Given the description of an element on the screen output the (x, y) to click on. 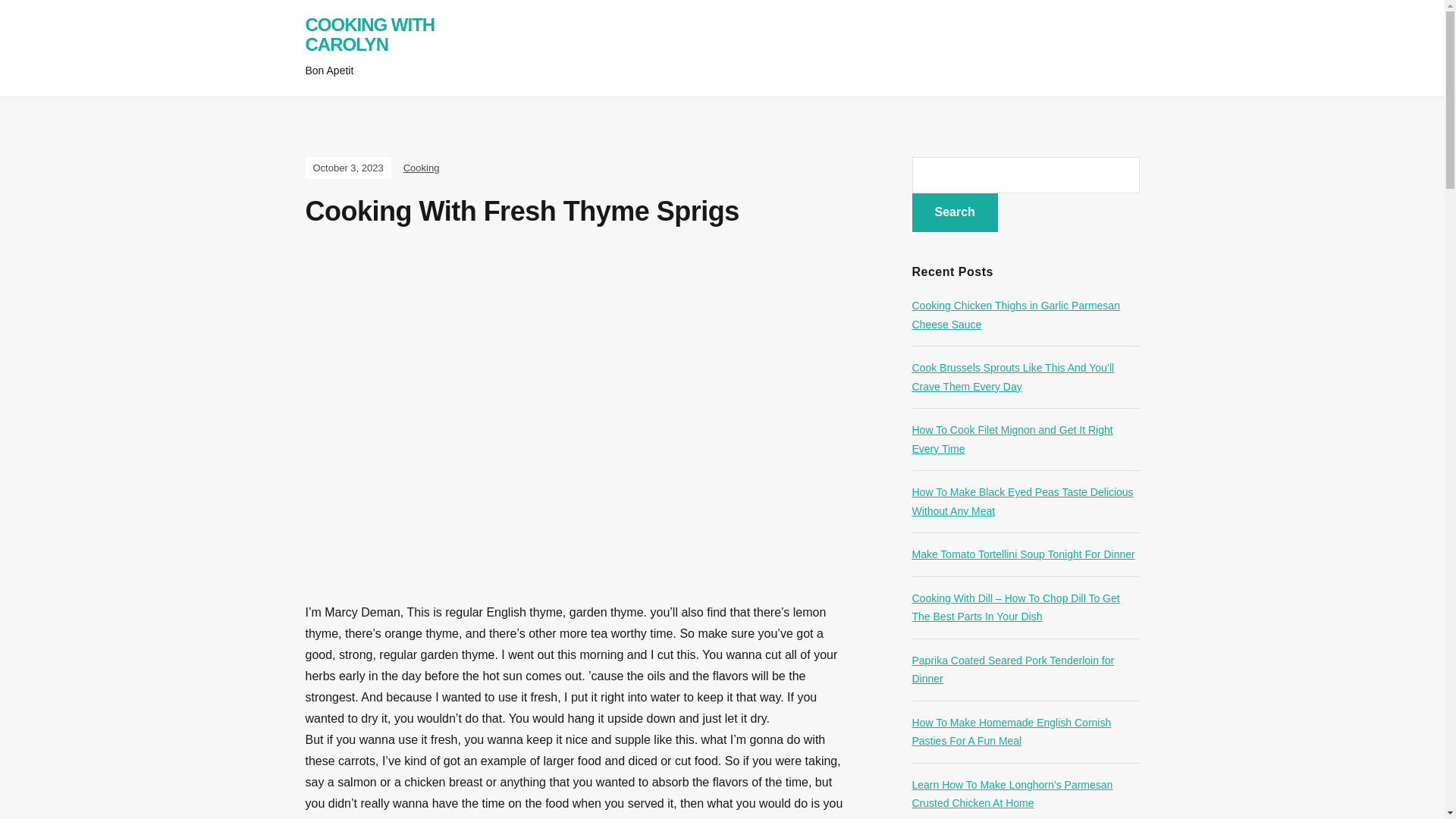
How To Cook Filet Mignon and Get It Right Every Time (1011, 439)
How To Make Homemade English Cornish Pasties For A Fun Meal (1010, 731)
How To Make Black Eyed Peas Taste Delicious Without Any Meat (1021, 501)
Search (954, 212)
Cooking (421, 167)
COOKING WITH CAROLYN (368, 34)
Cooking Chicken Thighs in Garlic Parmesan Cheese Sauce (1015, 314)
Paprika Coated Seared Pork Tenderloin for Dinner (1012, 669)
Search (954, 212)
